Given the description of an element on the screen output the (x, y) to click on. 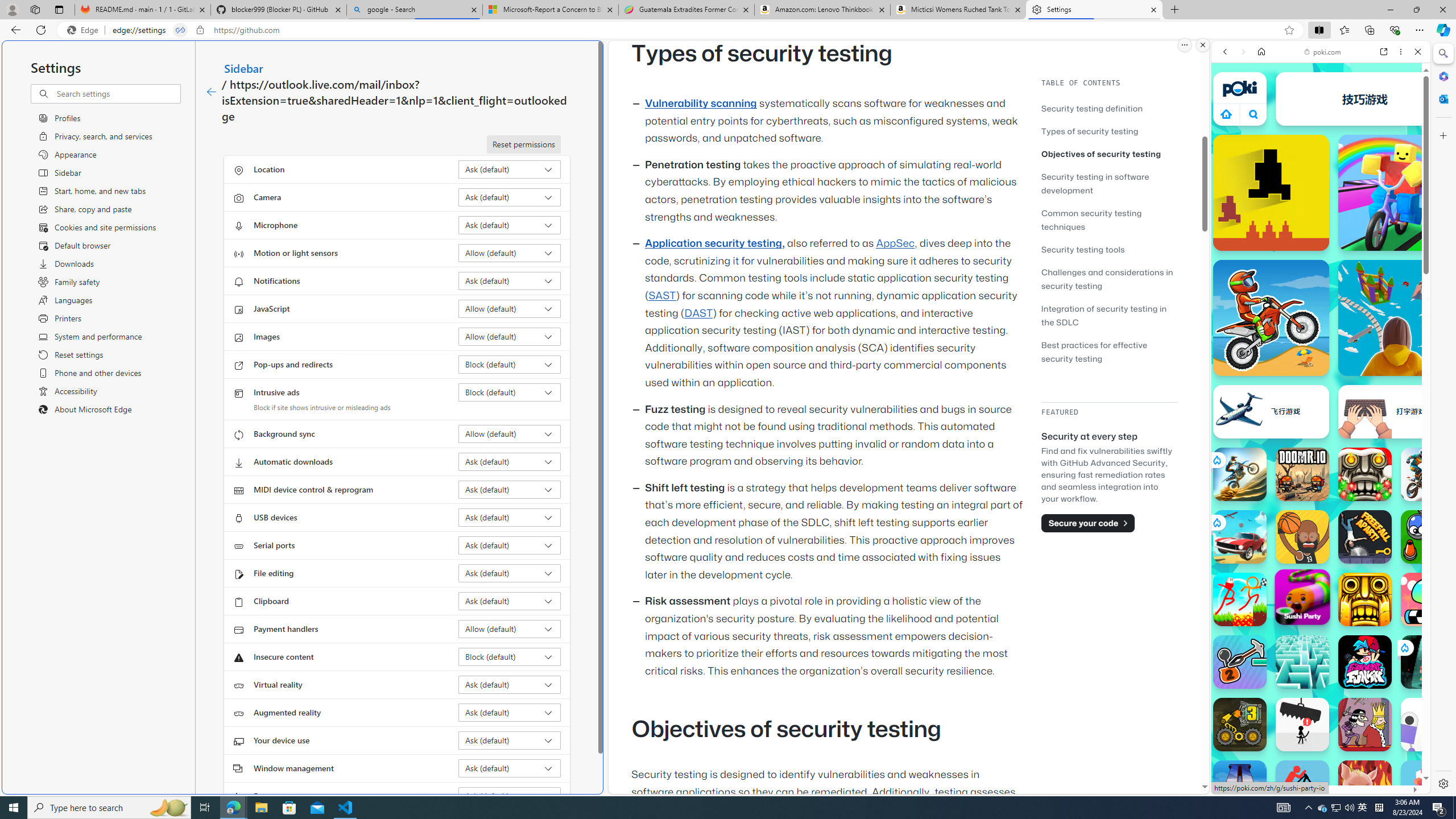
Open link in new tab (1383, 51)
Security testing in software development (1094, 182)
Split screen (1318, 29)
Close split screen. (1202, 45)
Edge (84, 29)
Goal Training (1427, 536)
Microsoft 365 (1442, 76)
Security testing definition (1109, 108)
This site scope (1259, 102)
google - Search (414, 9)
Restore (1416, 9)
Workspaces (34, 9)
Camera Ask (default) (509, 197)
